Given the description of an element on the screen output the (x, y) to click on. 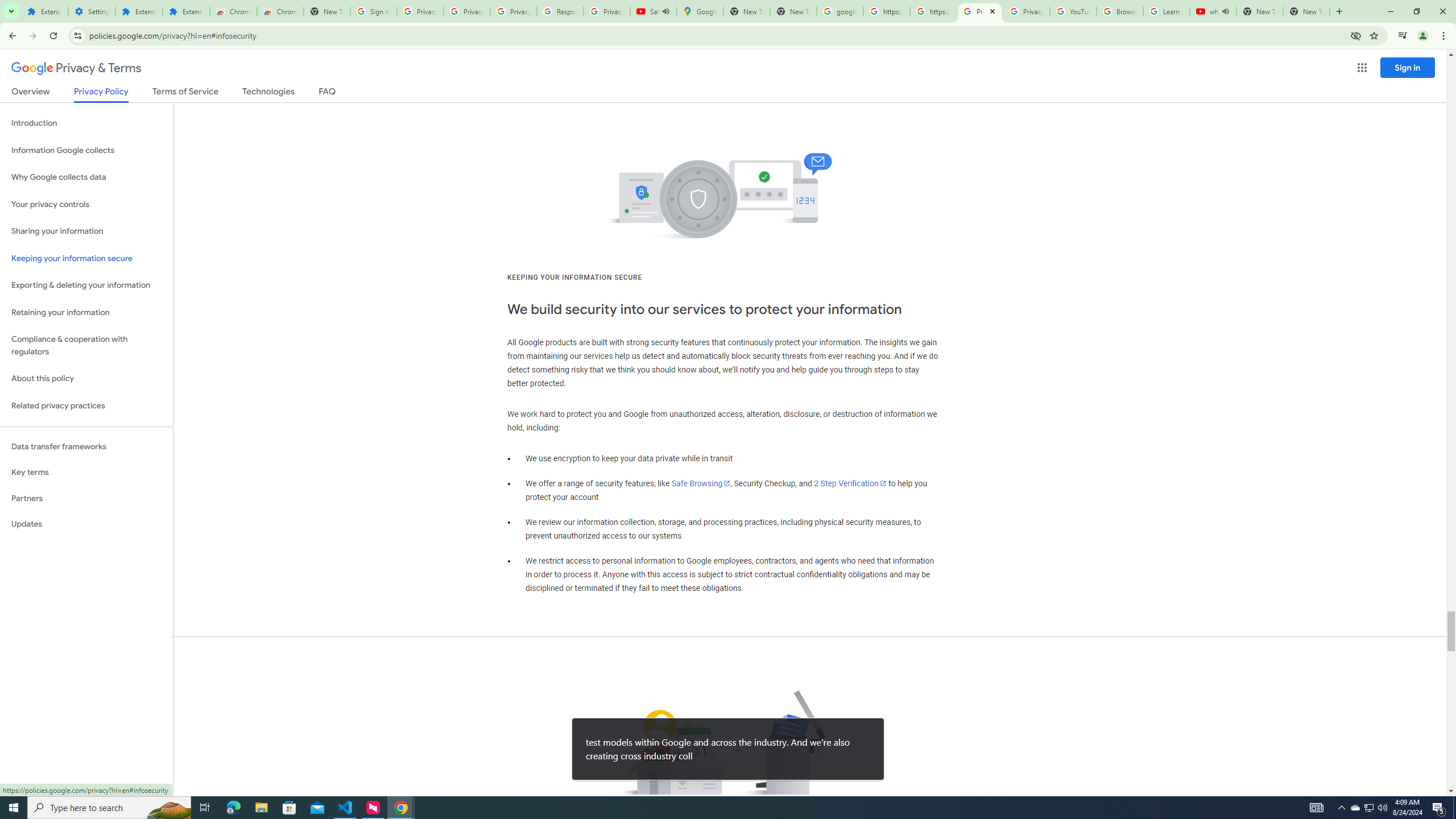
You (1422, 35)
https://scholar.google.com/ (886, 11)
Privacy & Terms (76, 68)
Restore (1416, 11)
Chrome Web Store (233, 11)
Exporting & deleting your information (86, 284)
Key terms (86, 472)
Back (10, 35)
Safe Browsing (700, 483)
Control your music, videos, and more (1402, 35)
Third-party cookies blocked (1355, 35)
Terms of Service (184, 93)
Sharing your information (86, 230)
